Given the description of an element on the screen output the (x, y) to click on. 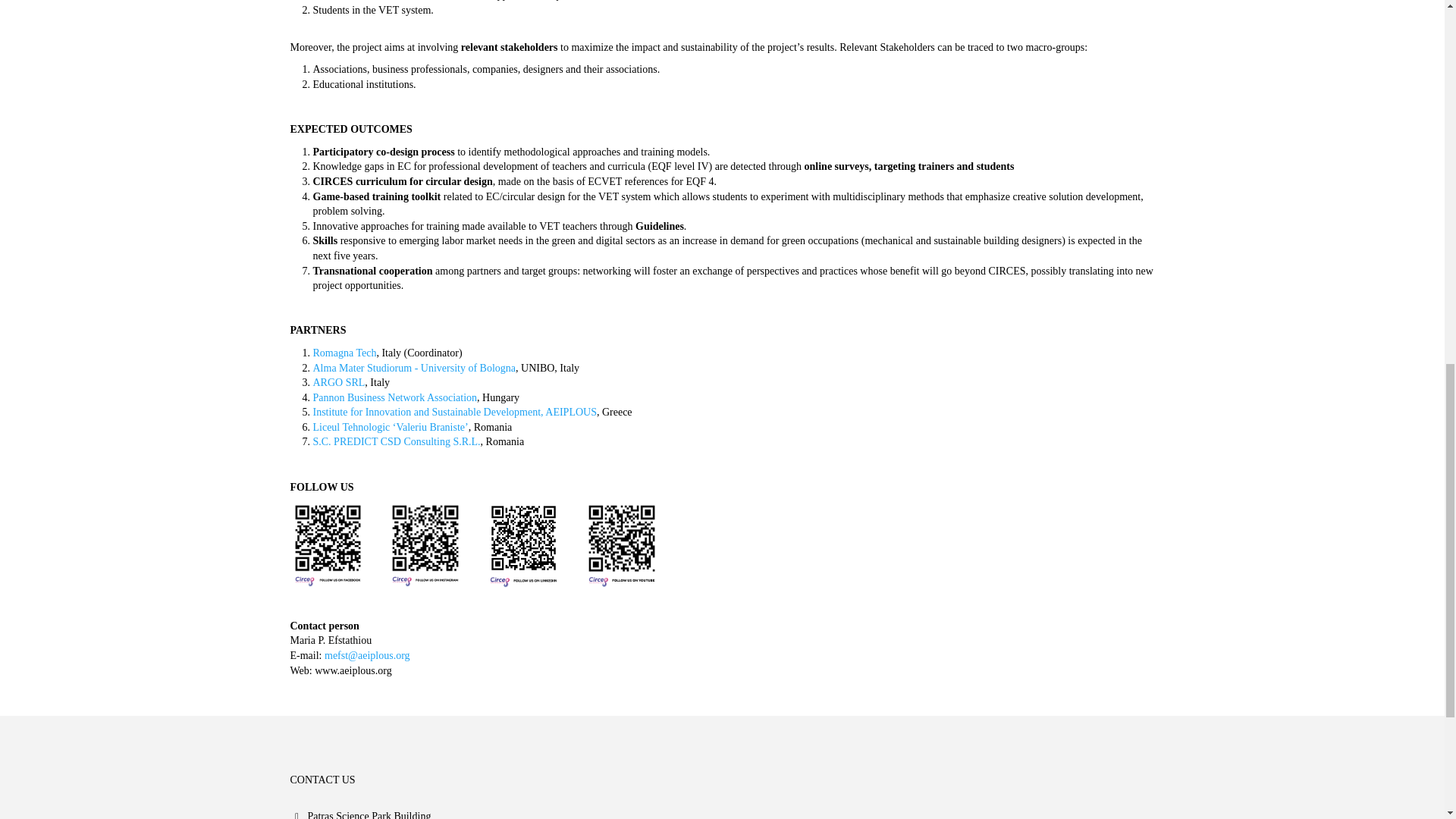
Alma Mater Studiorum - University of Bologna (414, 367)
ARGO SRL (339, 382)
Romagna Tech (344, 352)
Pannon Business Network Association (395, 397)
S.C. PREDICT CSD Consulting S.R.L. (396, 441)
